Given the description of an element on the screen output the (x, y) to click on. 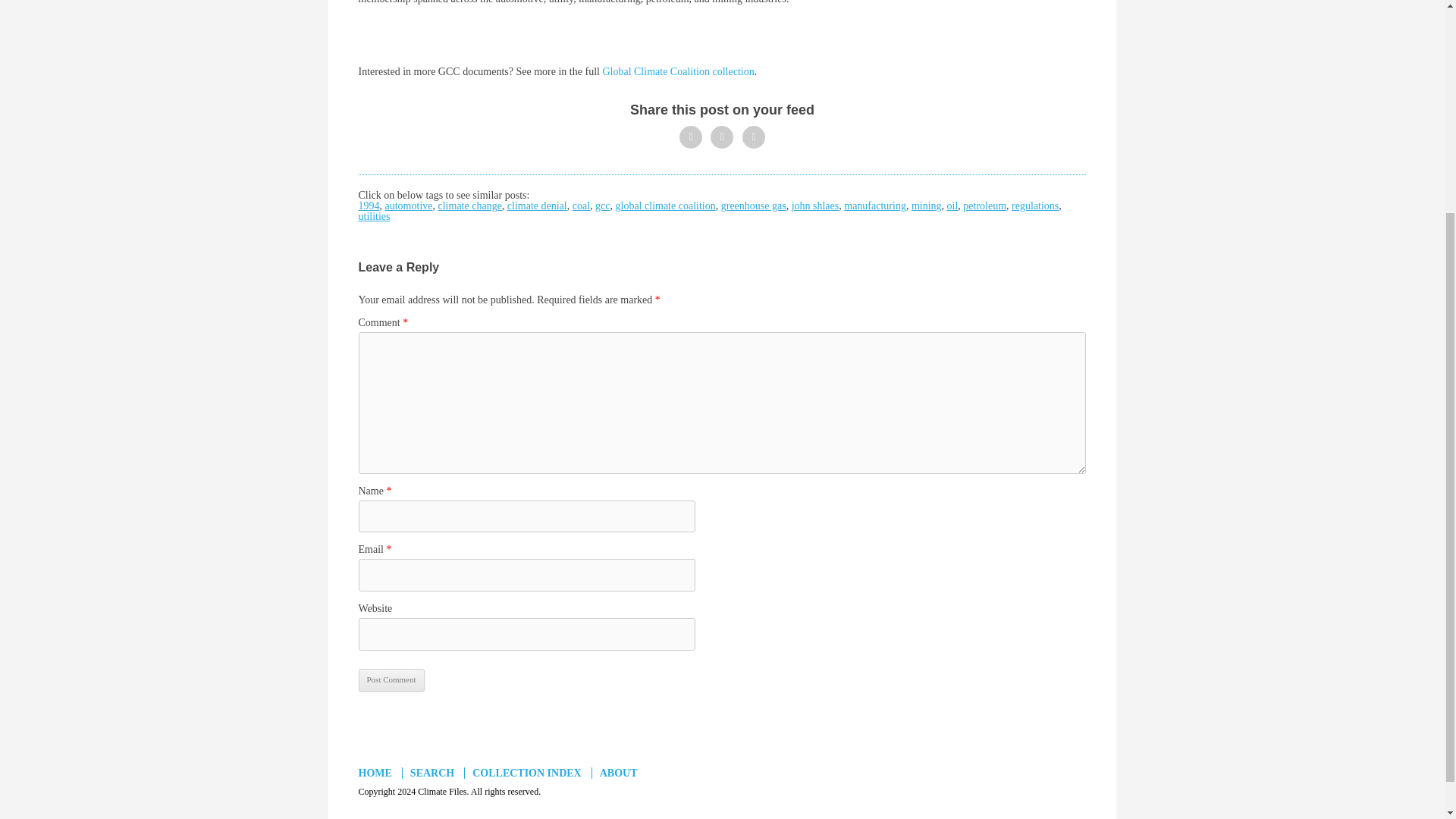
Post Comment (390, 680)
mining (926, 205)
climate denial (536, 205)
automotive (408, 205)
oil (952, 205)
Global Climate Coalition collection (676, 71)
global climate coalition (665, 205)
HOME (378, 772)
petroleum (984, 205)
utilities (374, 215)
Twitter (690, 137)
john shlaes (816, 205)
climate change (470, 205)
greenhouse gas (753, 205)
manufacturing (874, 205)
